Given the description of an element on the screen output the (x, y) to click on. 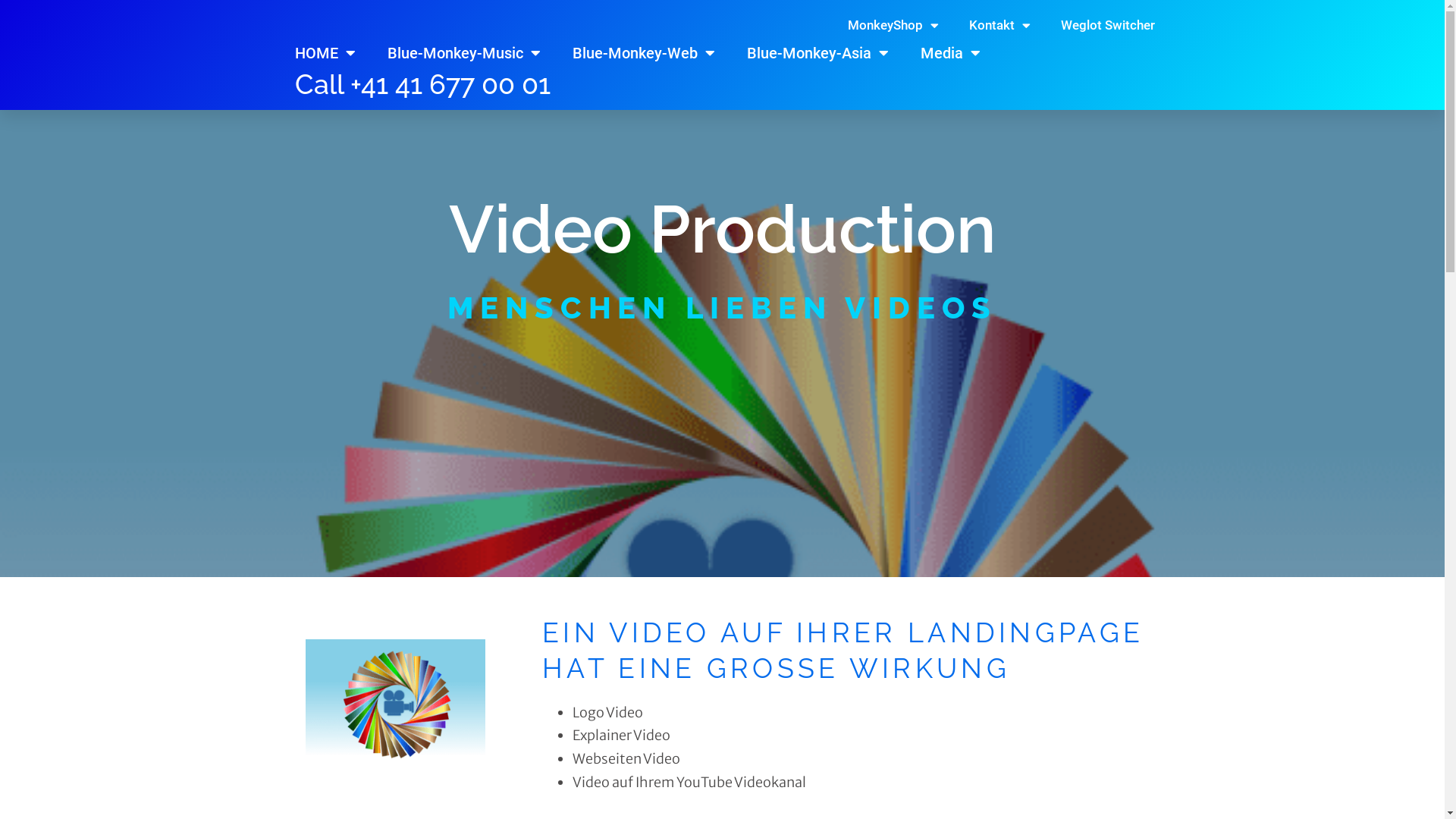
HOME Element type: text (324, 52)
Media Element type: text (950, 52)
Blue-Monkey-Web Element type: text (642, 52)
MonkeyShop Element type: text (892, 24)
Blue-Monkey-Music Element type: text (463, 52)
Weglot Switcher Element type: text (1106, 24)
Kontakt Element type: text (999, 24)
Blue-Monkey-Asia Element type: text (817, 52)
